Given the description of an element on the screen output the (x, y) to click on. 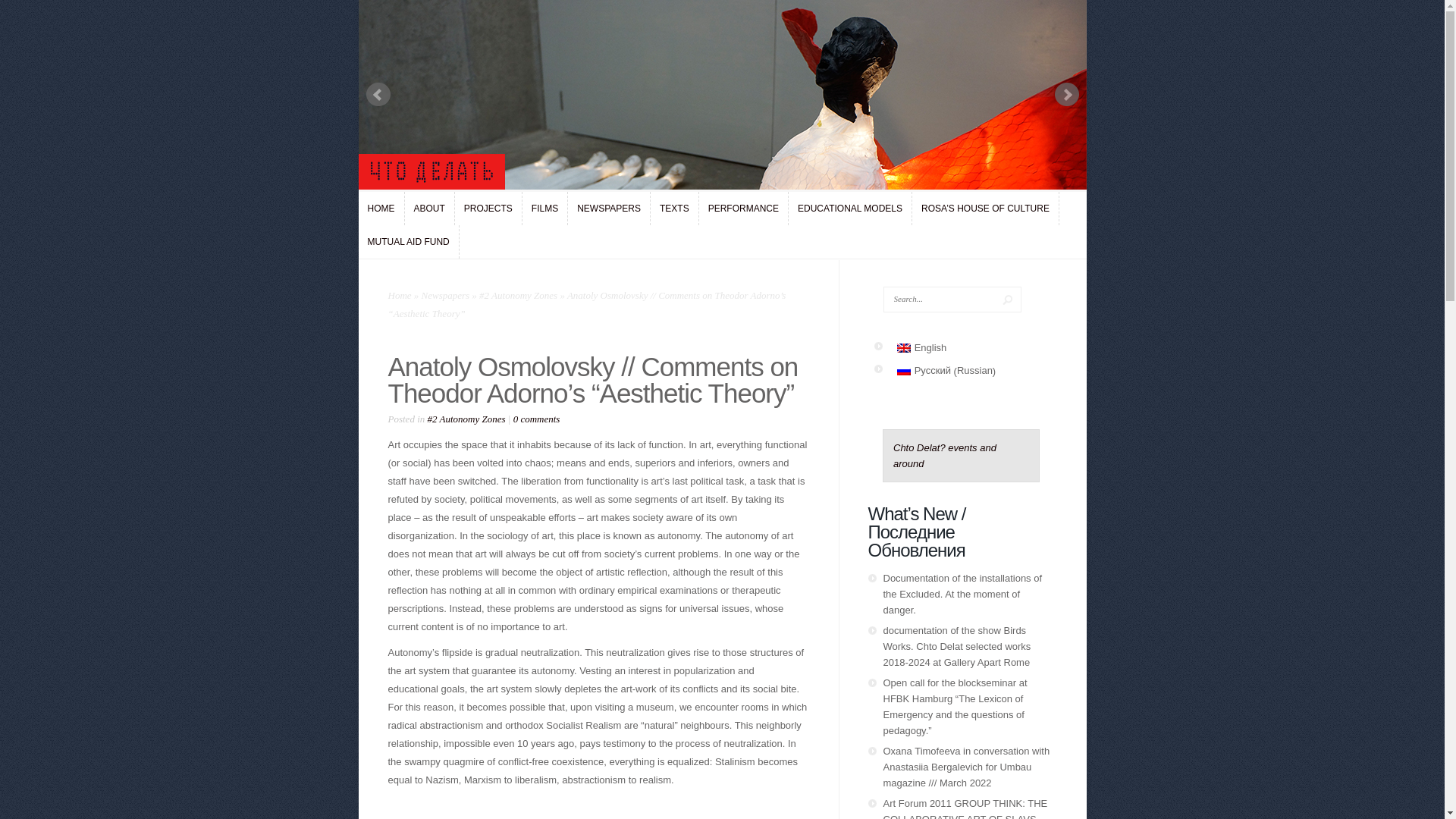
HOME (380, 208)
Newspapers (446, 295)
Prev (377, 94)
FILMS (544, 208)
Next (1066, 94)
PERFORMANCE (742, 208)
MUTUAL AID FUND (408, 241)
Home (400, 295)
EDUCATIONAL MODELS (850, 208)
Chto Delat? events and around (944, 455)
English (920, 347)
NEWSPAPERS (608, 208)
TEXTS (674, 208)
